Given the description of an element on the screen output the (x, y) to click on. 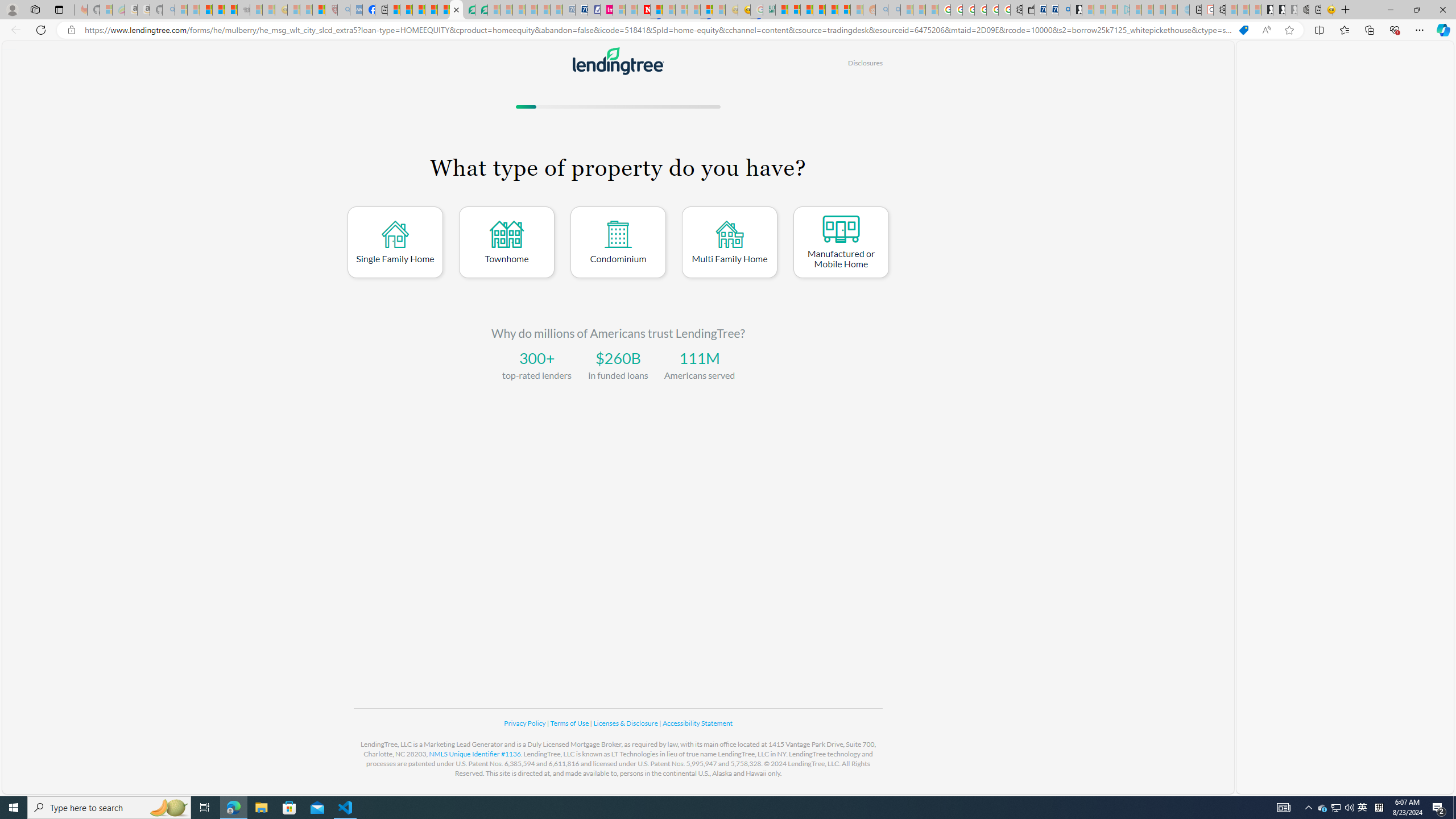
New Report Confirms 2023 Was Record Hot | Watch (230, 9)
Expert Portfolios (818, 9)
